Given the description of an element on the screen output the (x, y) to click on. 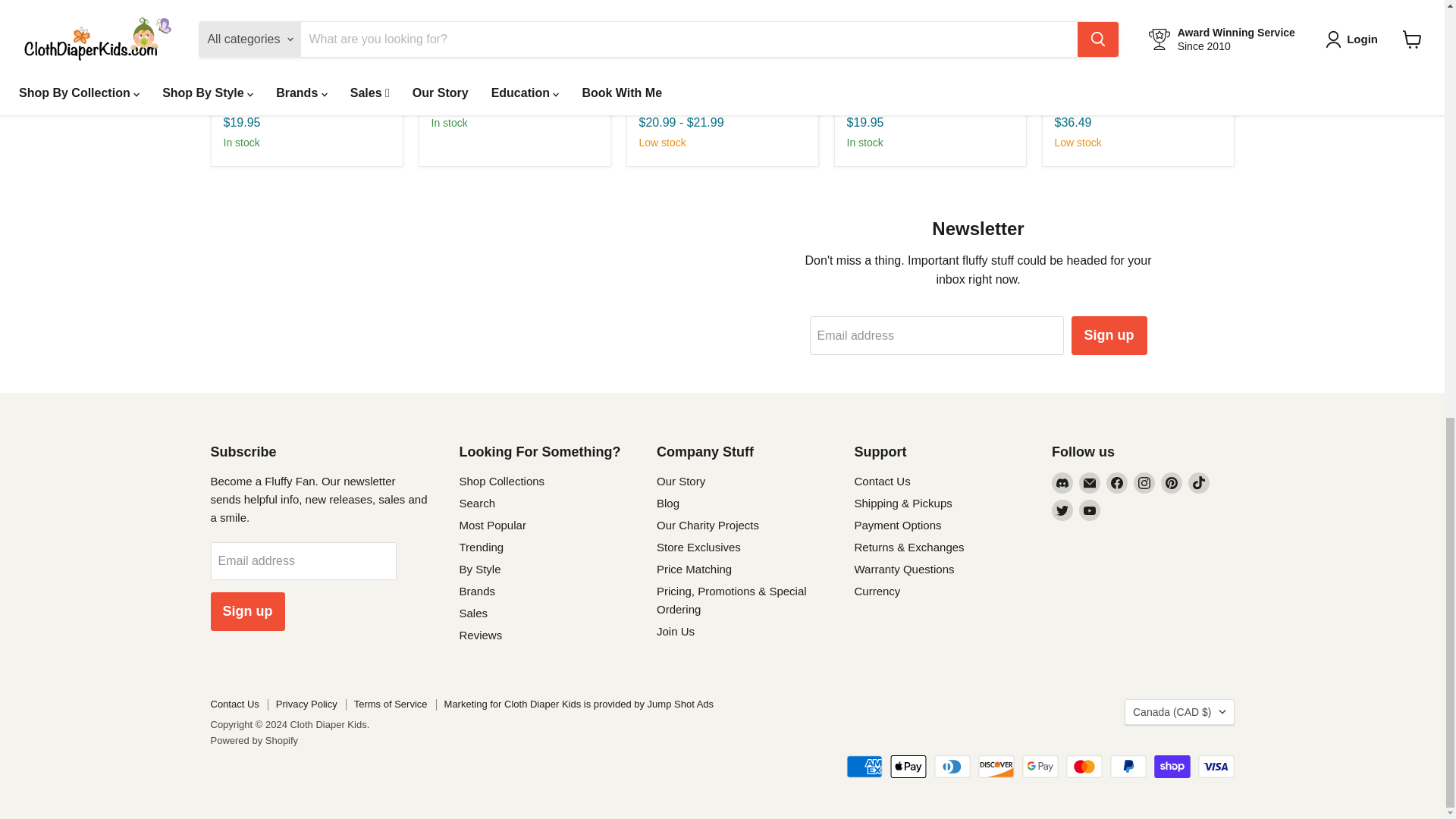
Instagram (1144, 482)
Facebook (1116, 482)
Thirsties (1072, 102)
Twitter (1062, 509)
TikTok (1198, 482)
Discord (1062, 482)
Pinterest (1171, 482)
YouTube (1089, 509)
Thirsties (864, 102)
Thirsties (448, 70)
Email (1089, 482)
Thirsties (241, 102)
Rumparooz (663, 102)
